Given the description of an element on the screen output the (x, y) to click on. 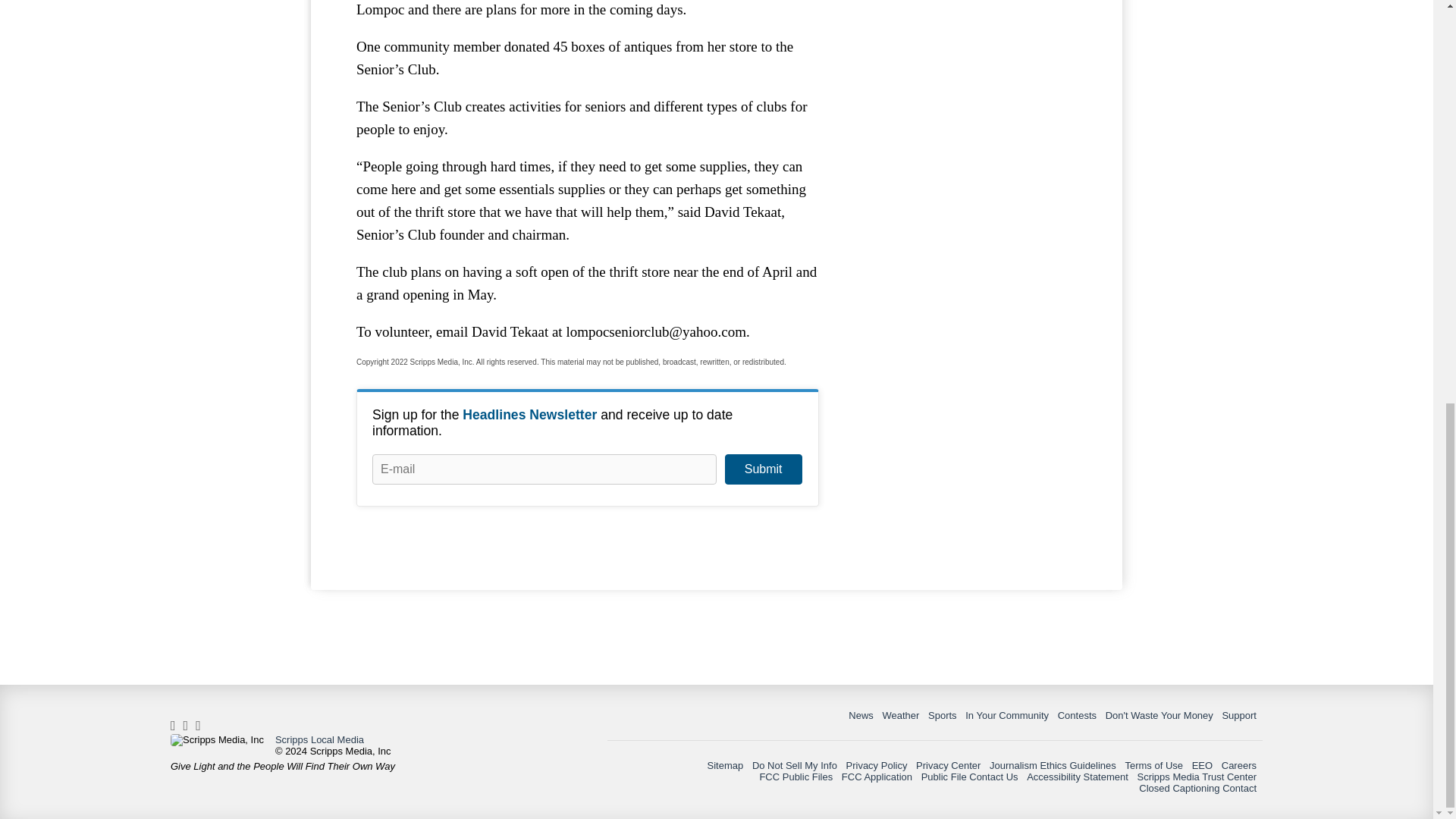
Submit (763, 469)
